Given the description of an element on the screen output the (x, y) to click on. 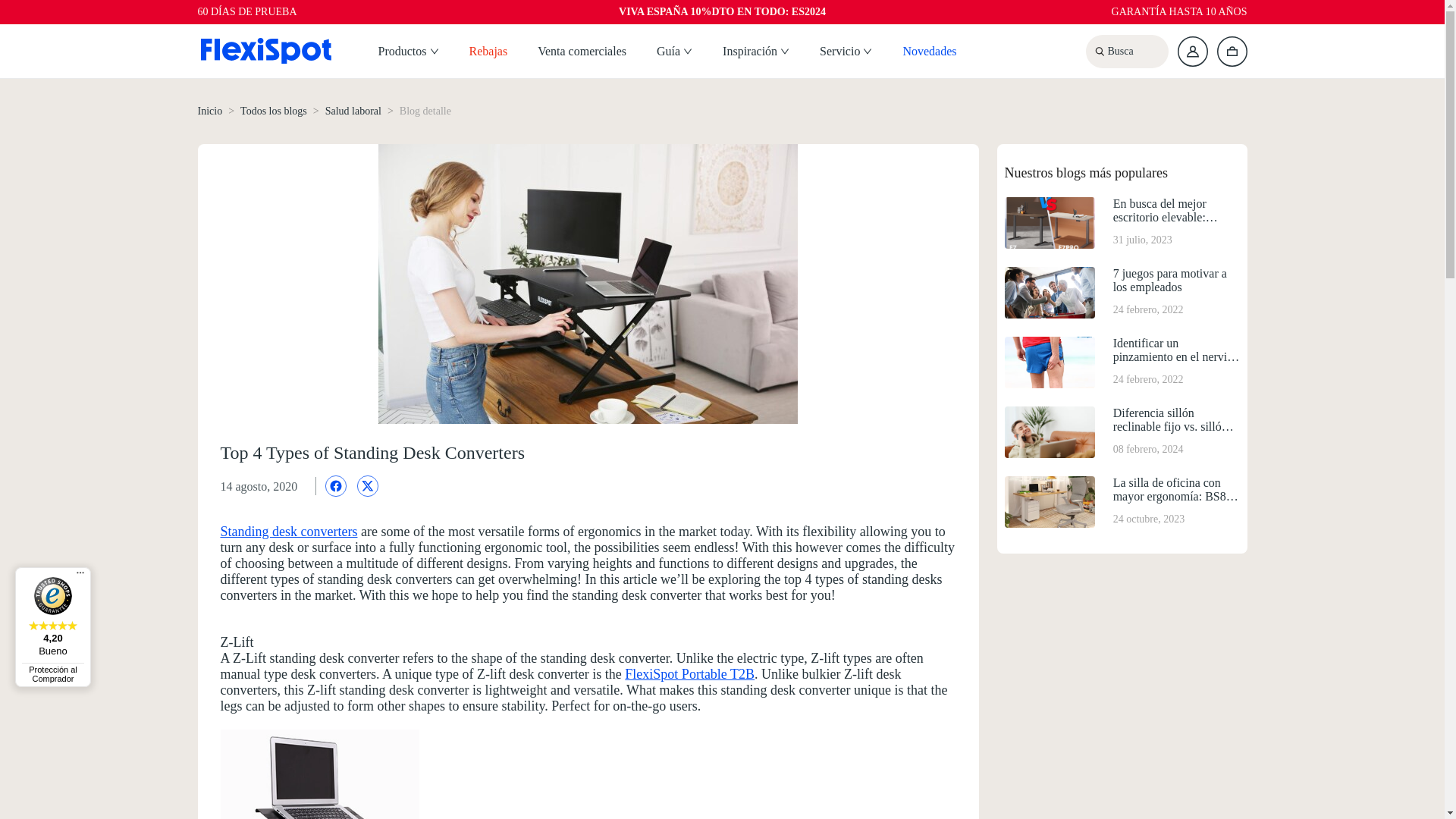
Inicio (209, 111)
Standing desk converters (287, 531)
Rebajas (488, 51)
Todos los blogs (273, 111)
Novedades (929, 51)
FlexiSpot Portable T2B (689, 673)
Venta comerciales (581, 51)
Salud laboral (352, 111)
